Given the description of an element on the screen output the (x, y) to click on. 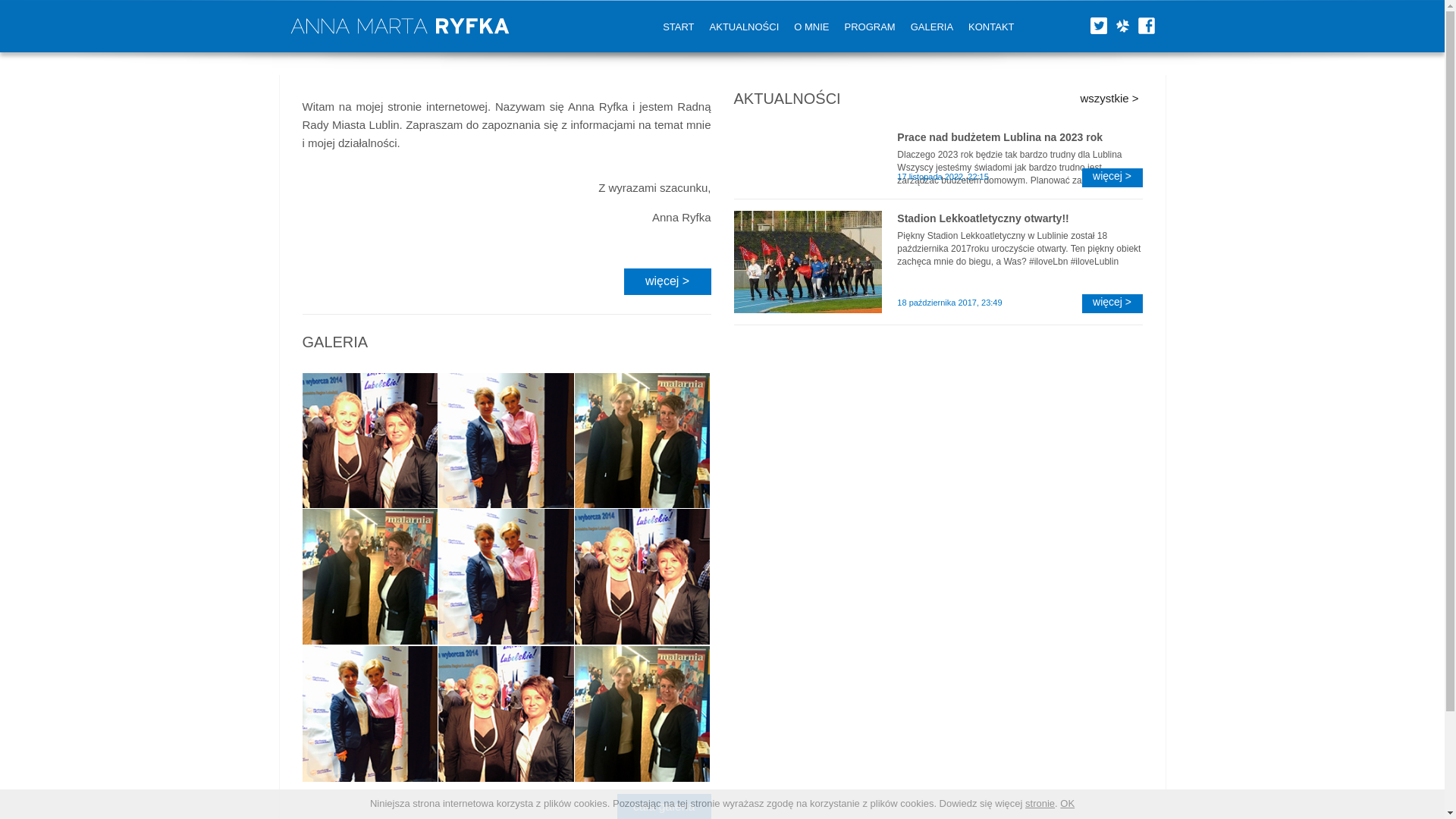
O MNIE (810, 27)
KONTAKT (991, 27)
OK (1066, 803)
Stadion Lekkoatletyczny otwarty!! (1018, 218)
GALERIA (931, 27)
PROGRAM (869, 27)
stronie (1039, 803)
